Given the description of an element on the screen output the (x, y) to click on. 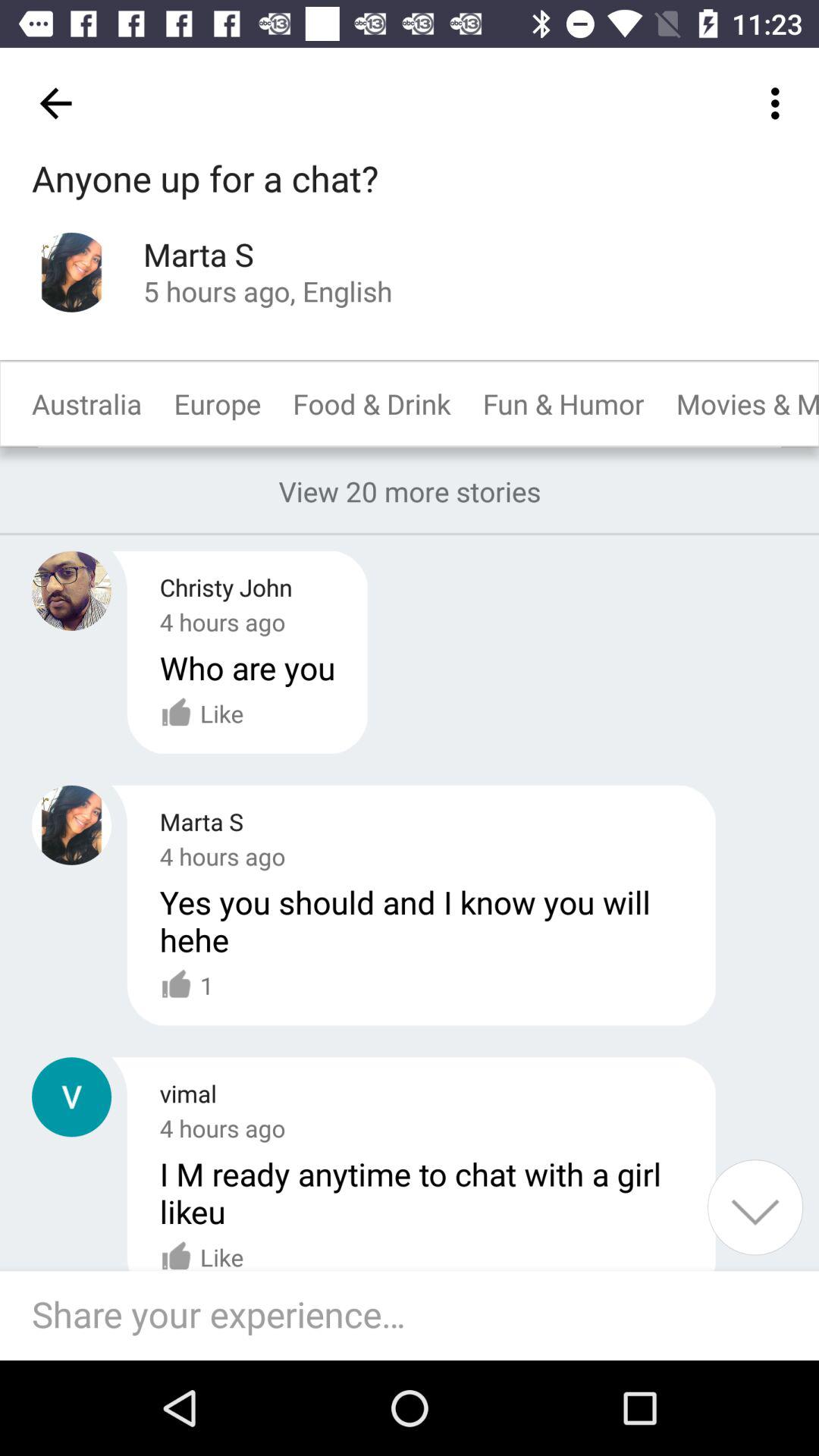
open profile (71, 272)
